Given the description of an element on the screen output the (x, y) to click on. 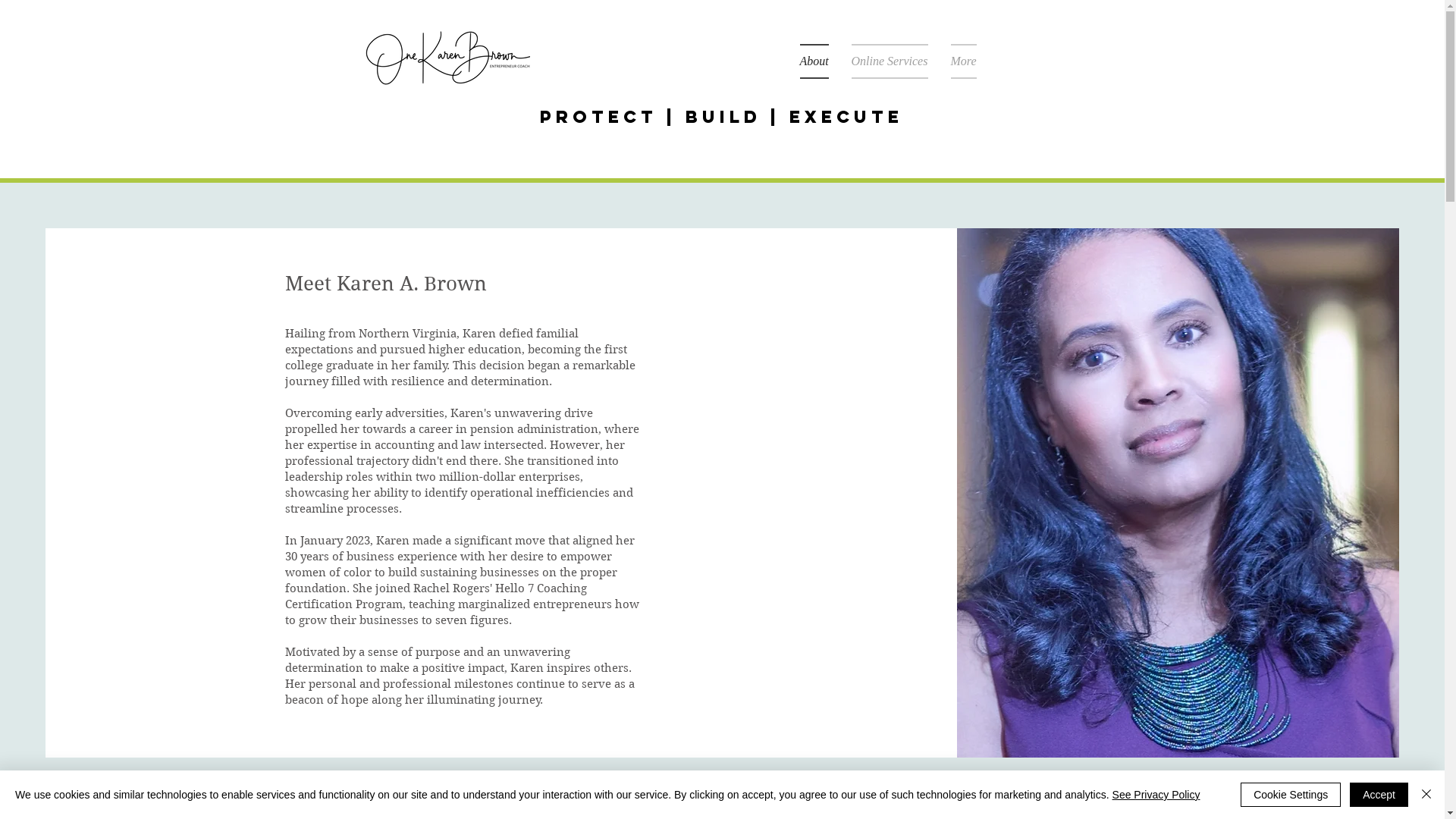
About Element type: text (819, 60)
Cookie Settings Element type: text (1290, 794)
Accept Element type: text (1378, 794)
See Privacy Policy Element type: text (1156, 794)
Online Services Element type: text (889, 60)
